Given the description of an element on the screen output the (x, y) to click on. 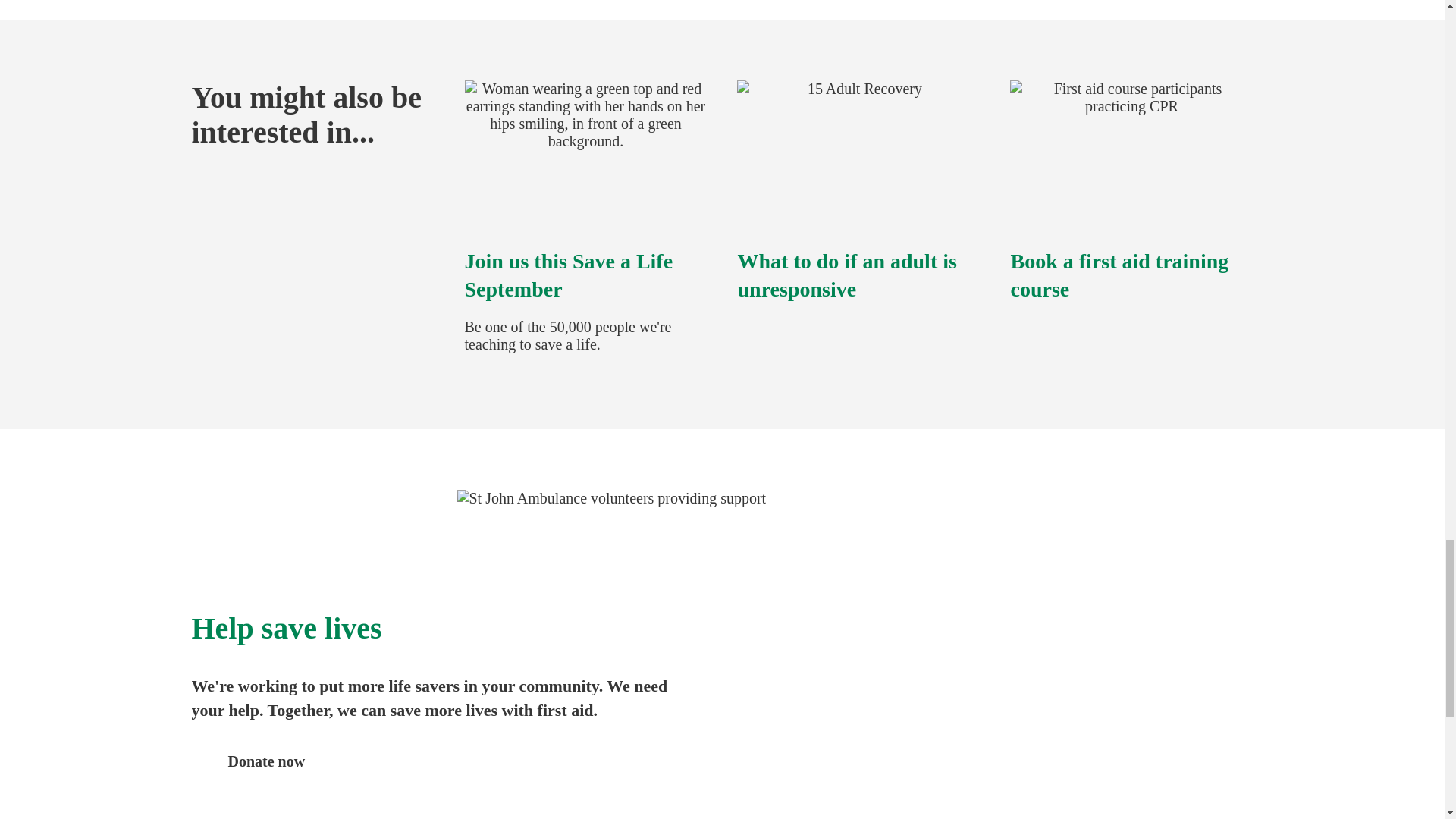
First aid course participants practicing CPR (1131, 155)
15 Adult Recovery (857, 155)
